Given the description of an element on the screen output the (x, y) to click on. 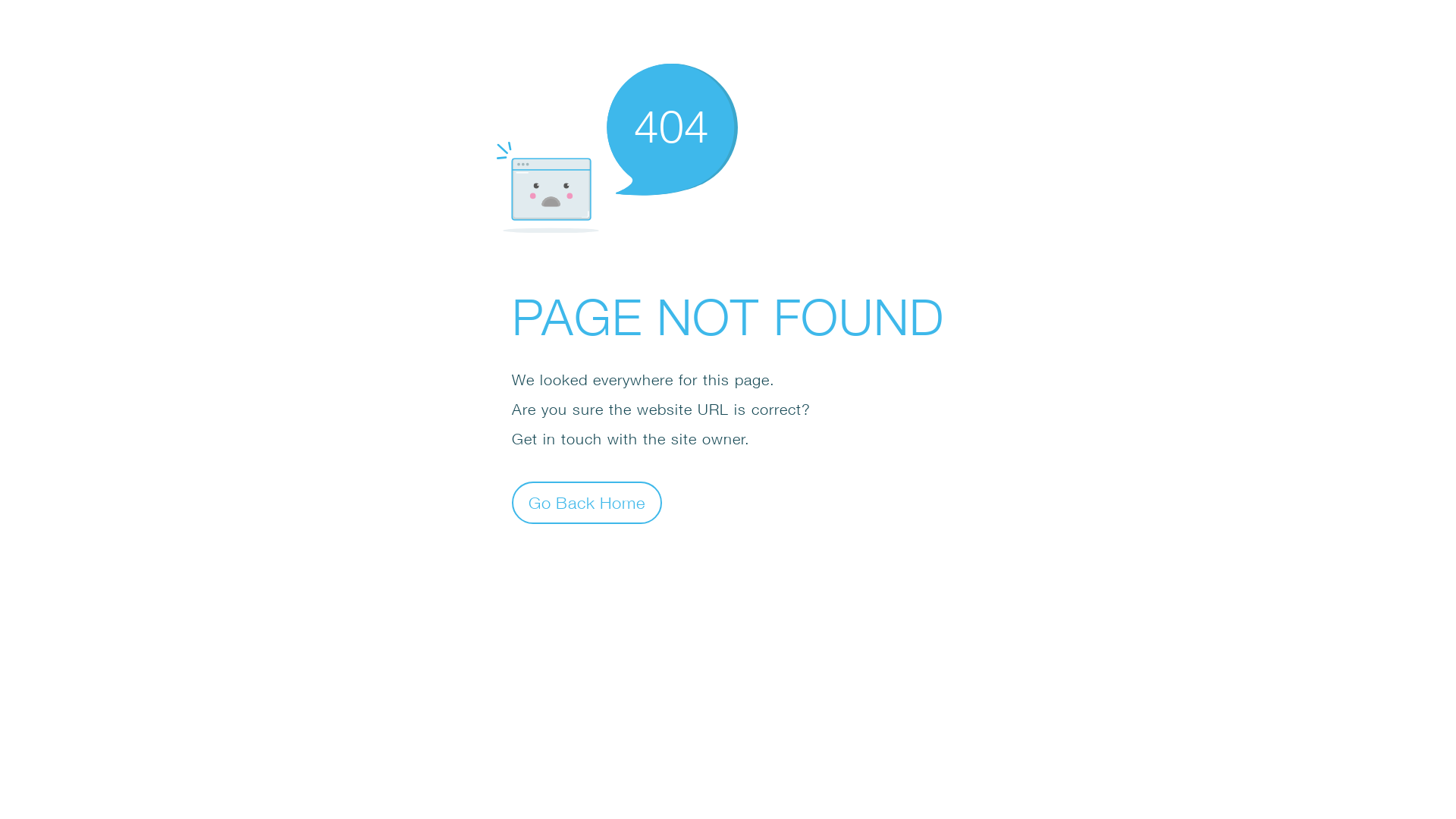
Go Back Home Element type: text (586, 502)
